Given the description of an element on the screen output the (x, y) to click on. 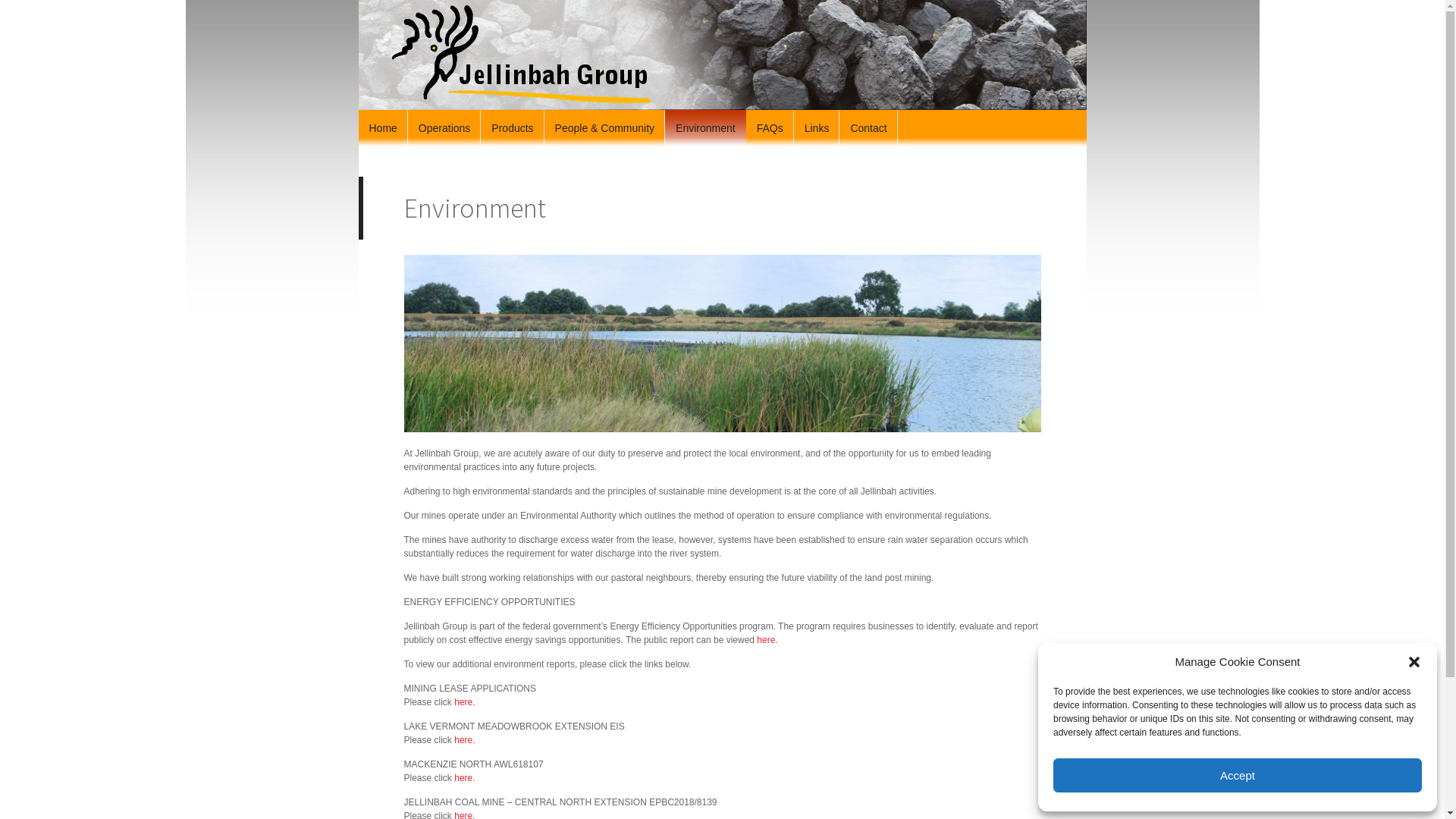
Jellinbah Group Pty Ltd Element type: hover (721, 54)
Environment Element type: text (705, 127)
here Element type: text (463, 777)
here Element type: text (765, 639)
Home Element type: text (382, 127)
Contact Element type: text (868, 127)
People & Community Element type: text (604, 127)
here Element type: text (463, 739)
here Element type: text (463, 701)
Accept Element type: text (1237, 775)
Water Storage Area Jellinbah Mine Element type: hover (721, 343)
Links Element type: text (816, 127)
Products Element type: text (511, 127)
Operations Element type: text (443, 127)
FAQs Element type: text (769, 127)
